Given the description of an element on the screen output the (x, y) to click on. 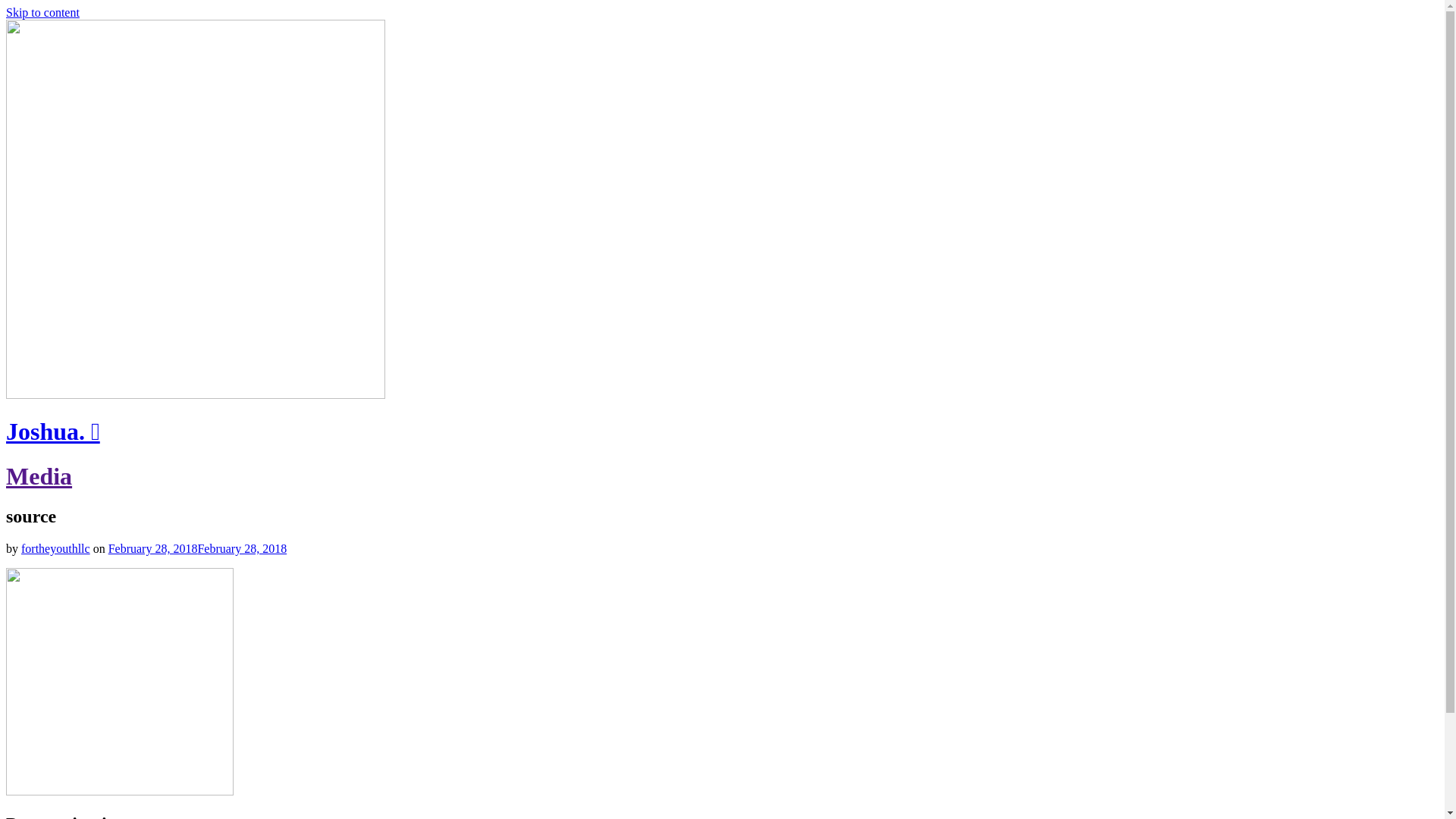
Media Element type: text (39, 475)
February 28, 2018February 28, 2018 Element type: text (197, 548)
fortheyouthllc Element type: text (55, 548)
Skip to content Element type: text (42, 12)
